Given the description of an element on the screen output the (x, y) to click on. 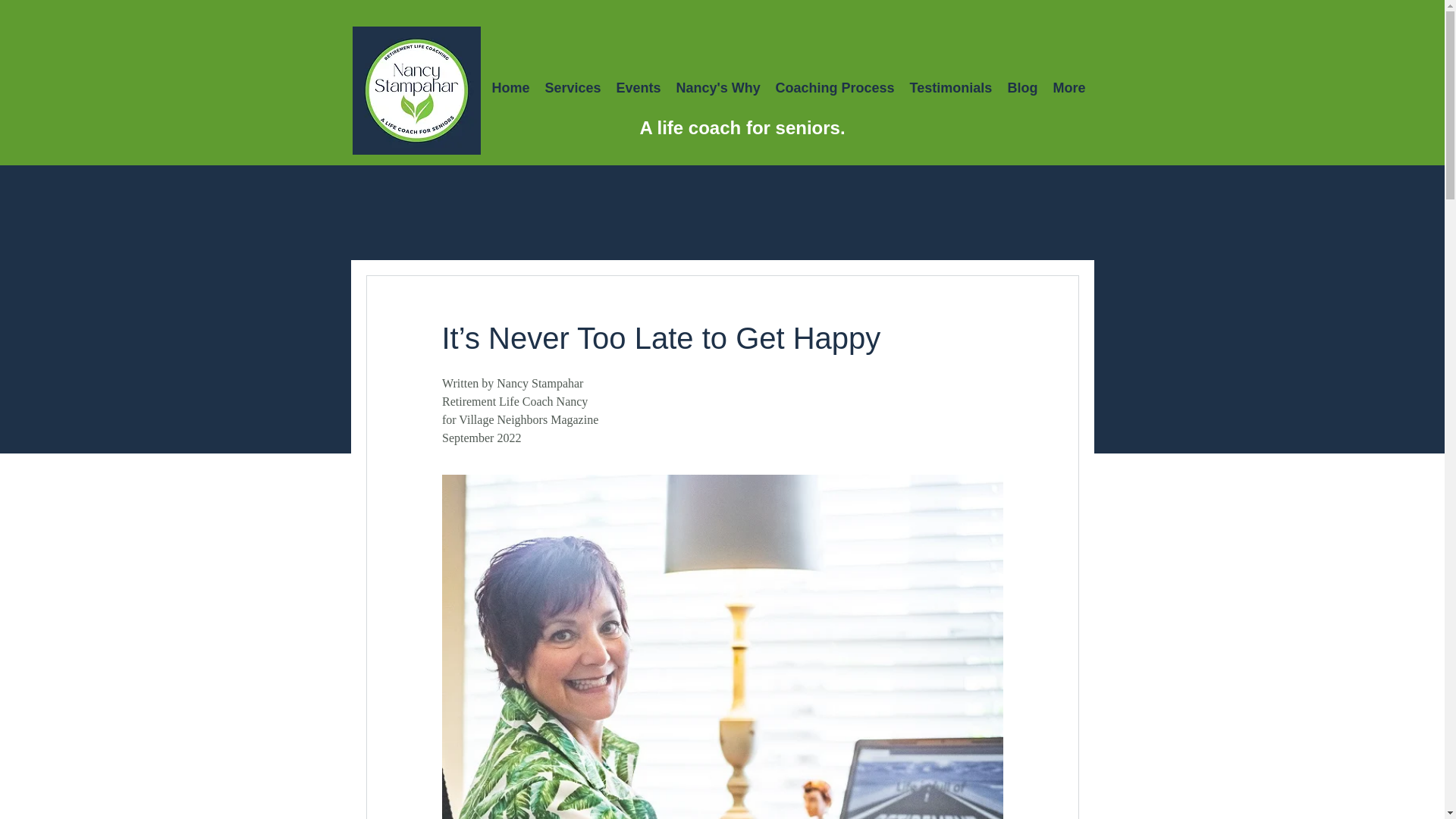
Nancy's Why (718, 88)
Events (638, 88)
Blog (1021, 88)
Testimonials (951, 88)
Services (572, 88)
Home (510, 88)
Coaching Process (834, 88)
